Given the description of an element on the screen output the (x, y) to click on. 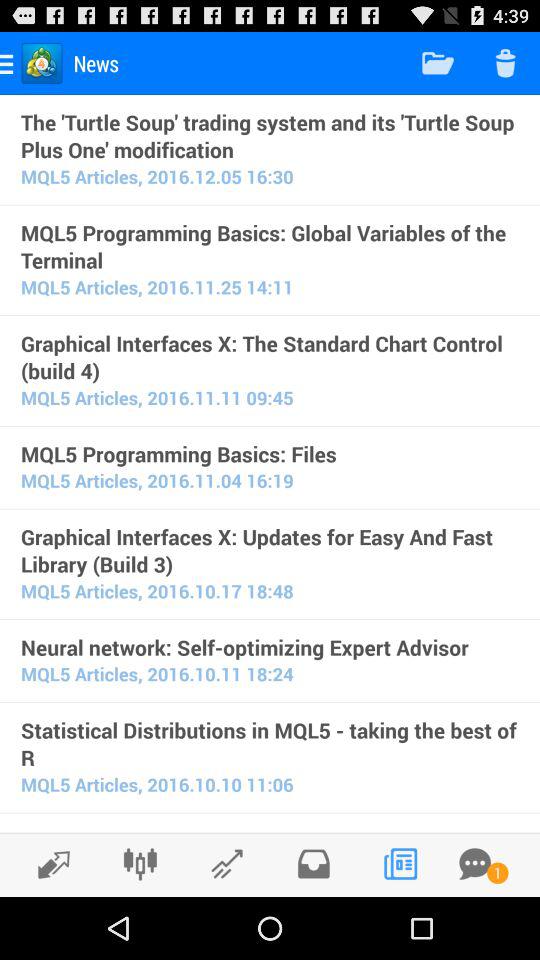
launch the item below the mql5 articles 2016 icon (270, 647)
